Given the description of an element on the screen output the (x, y) to click on. 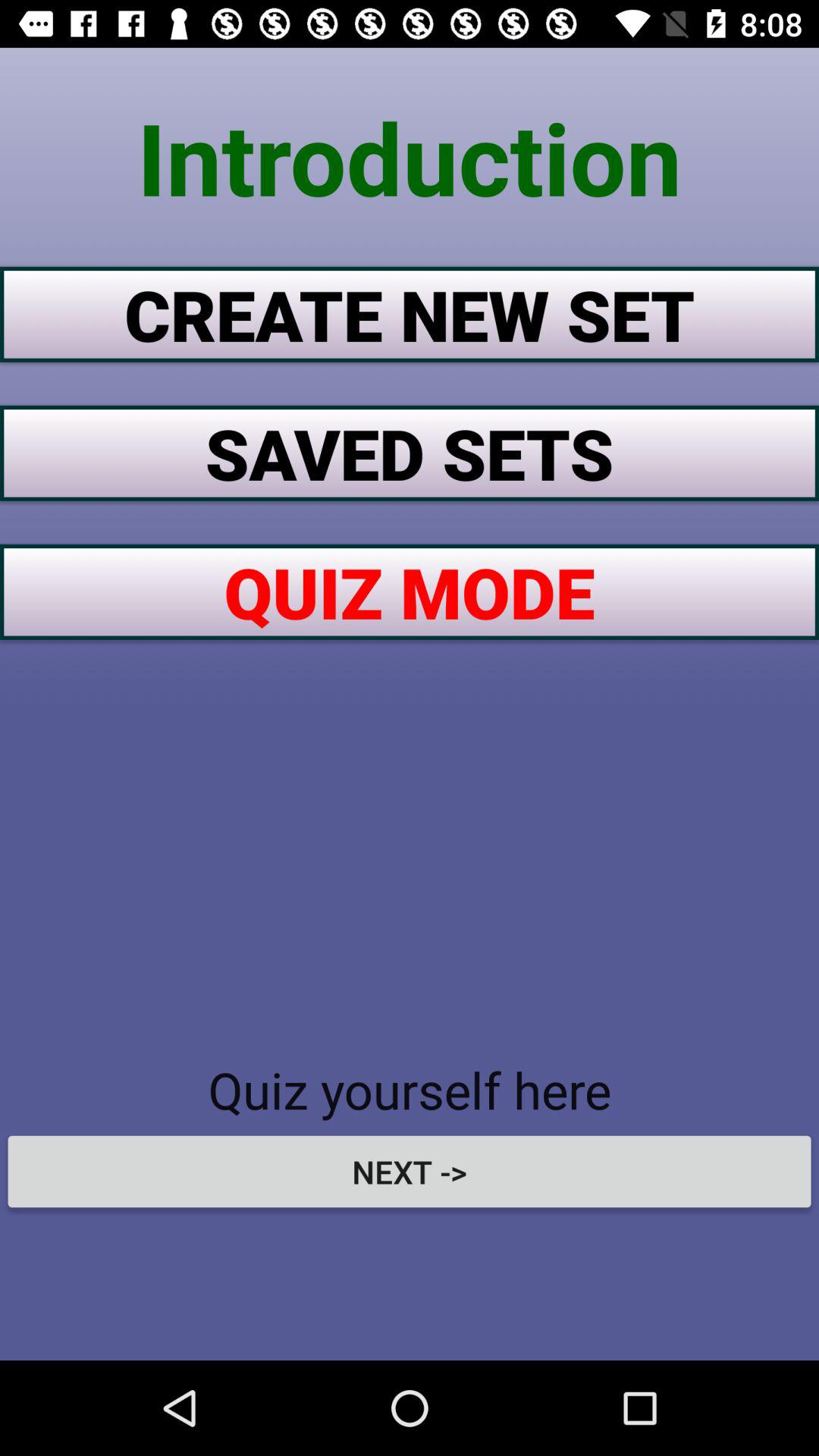
turn on the create new set icon (409, 314)
